Given the description of an element on the screen output the (x, y) to click on. 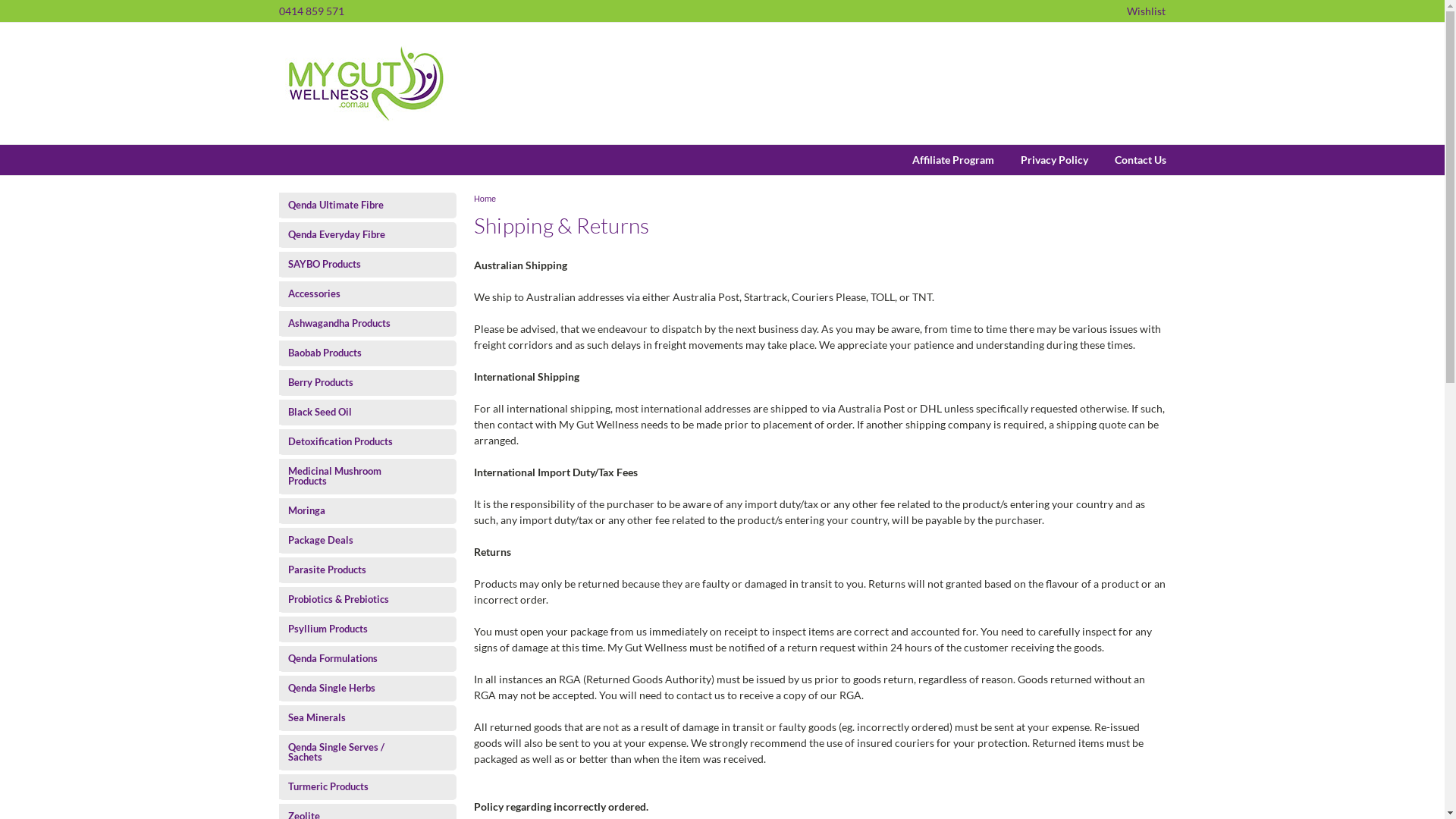
Detoxification Products Element type: text (354, 441)
Medicinal Mushroom Products Element type: text (354, 475)
Accessories Element type: text (354, 293)
Affiliate Program Element type: text (939, 159)
Qenda Ultimate Fibre Element type: text (354, 204)
Baobab Products Element type: text (354, 352)
Qenda Single Herbs Element type: text (354, 687)
Qenda Everyday Fibre Element type: text (354, 234)
Home Element type: text (484, 198)
My Gut Wellness Element type: hover (365, 83)
Privacy Policy Element type: text (1040, 159)
Contact Us Element type: text (1126, 159)
Qenda Formulations Element type: text (354, 658)
0414 859 571 Element type: text (311, 10)
Psyllium Products Element type: text (354, 628)
SAYBO Products Element type: text (354, 263)
Moringa Element type: text (354, 510)
Ashwagandha Products Element type: text (354, 322)
Sea Minerals Element type: text (354, 717)
Berry Products Element type: text (354, 382)
Black Seed Oil Element type: text (354, 411)
Turmeric Products Element type: text (354, 786)
Wishlist Element type: text (1145, 10)
Probiotics & Prebiotics Element type: text (354, 598)
Package Deals Element type: text (354, 539)
Qenda Single Serves / Sachets Element type: text (354, 751)
Parasite Products Element type: text (354, 569)
